Given the description of an element on the screen output the (x, y) to click on. 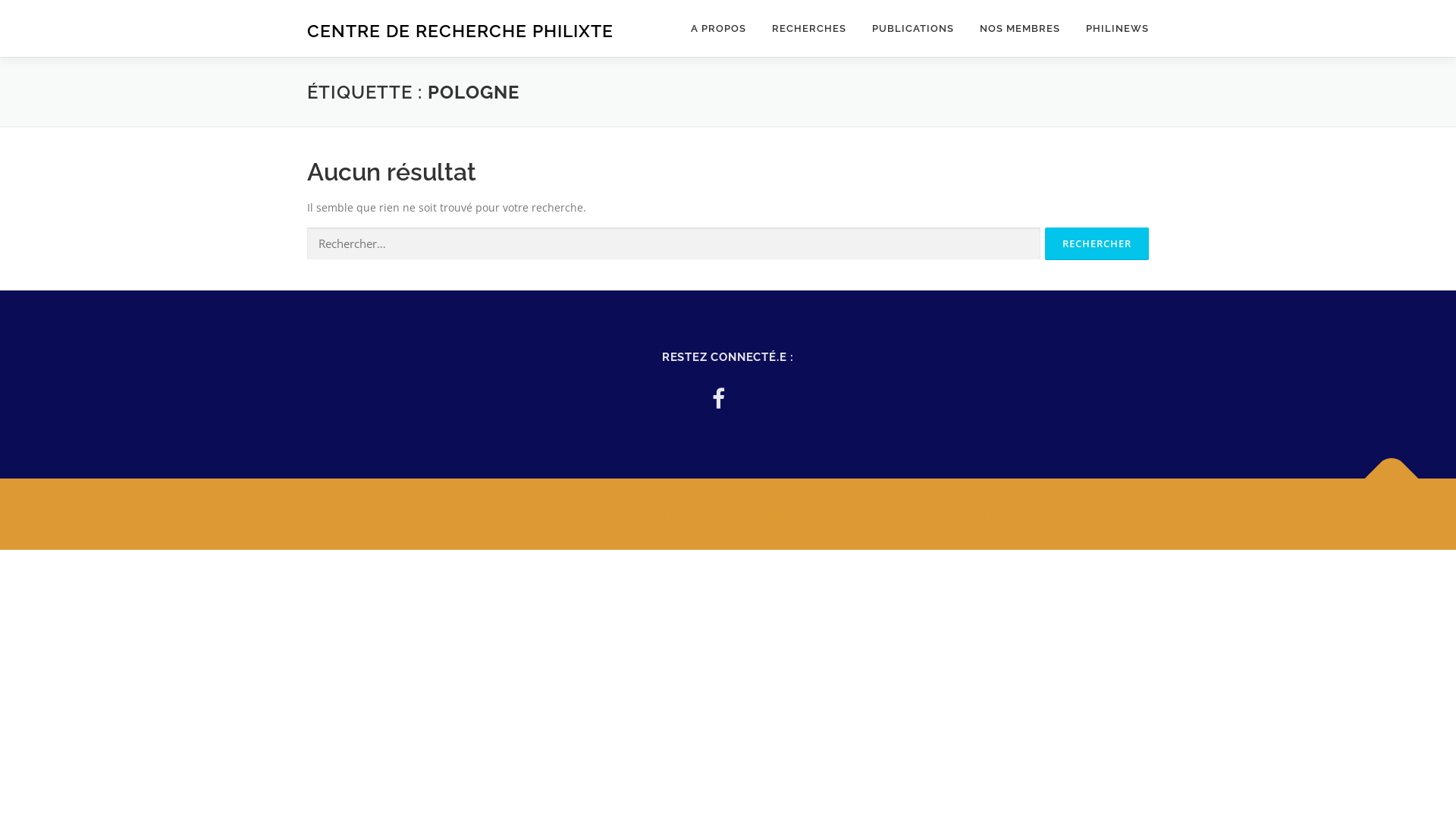
PUBLICATIONS Element type: text (912, 28)
A PROPOS Element type: text (718, 28)
OnePress Element type: text (729, 513)
RECHERCHES Element type: text (809, 28)
Rechercher Element type: text (1096, 243)
Retour en haut Element type: hover (1383, 470)
NOS MEMBRES Element type: text (1019, 28)
PHILINEWS Element type: text (1110, 28)
CENTRE DE RECHERCHE PHILIXTE Element type: text (460, 30)
